Given the description of an element on the screen output the (x, y) to click on. 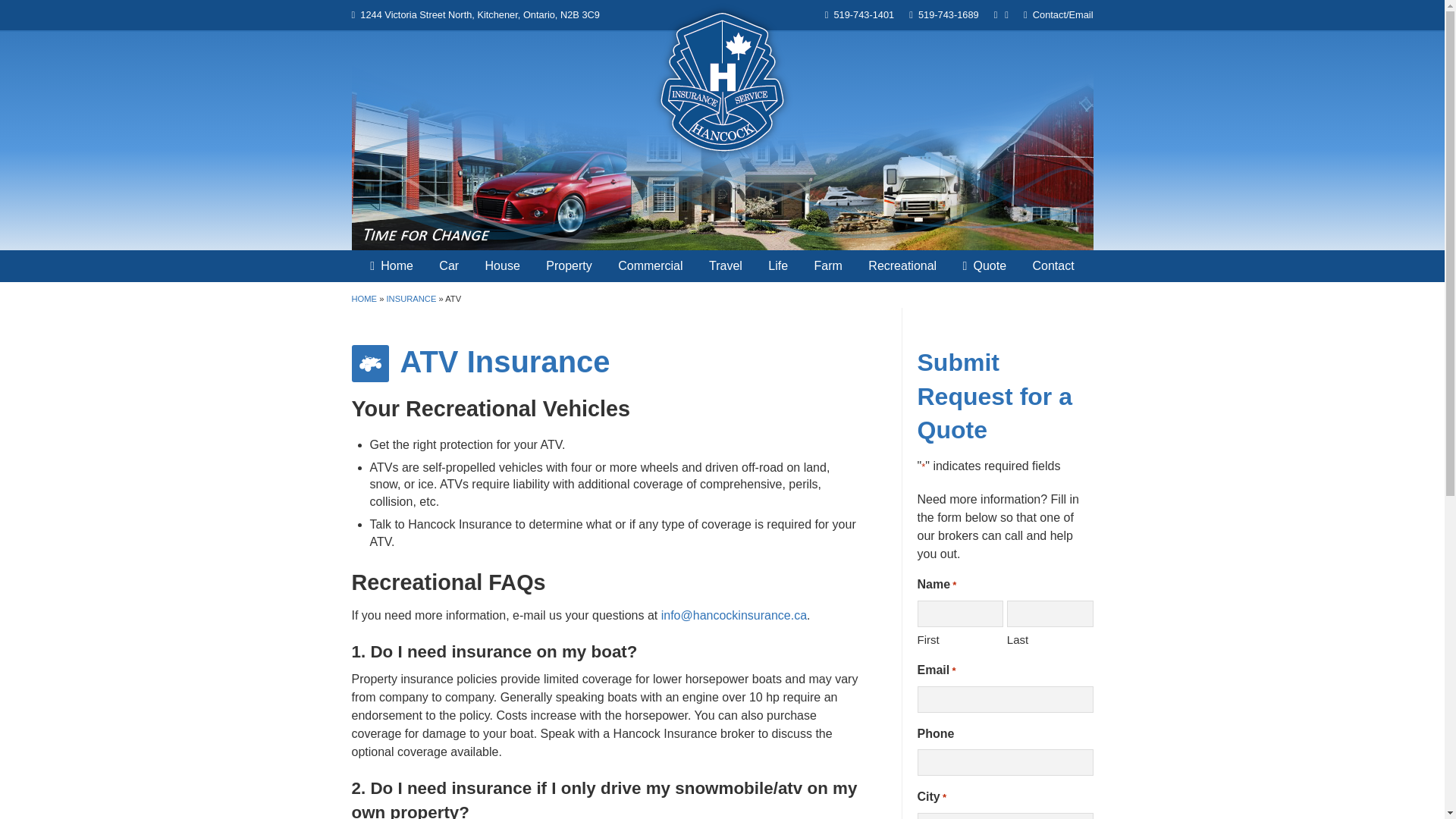
House (502, 265)
Contact (1052, 265)
Travel (725, 265)
Commercial (650, 265)
519-743-1401 (862, 14)
Property (568, 265)
Home (391, 265)
Quote (984, 265)
Farm (828, 265)
Life (778, 265)
Recreational (902, 265)
Car (449, 265)
